Given the description of an element on the screen output the (x, y) to click on. 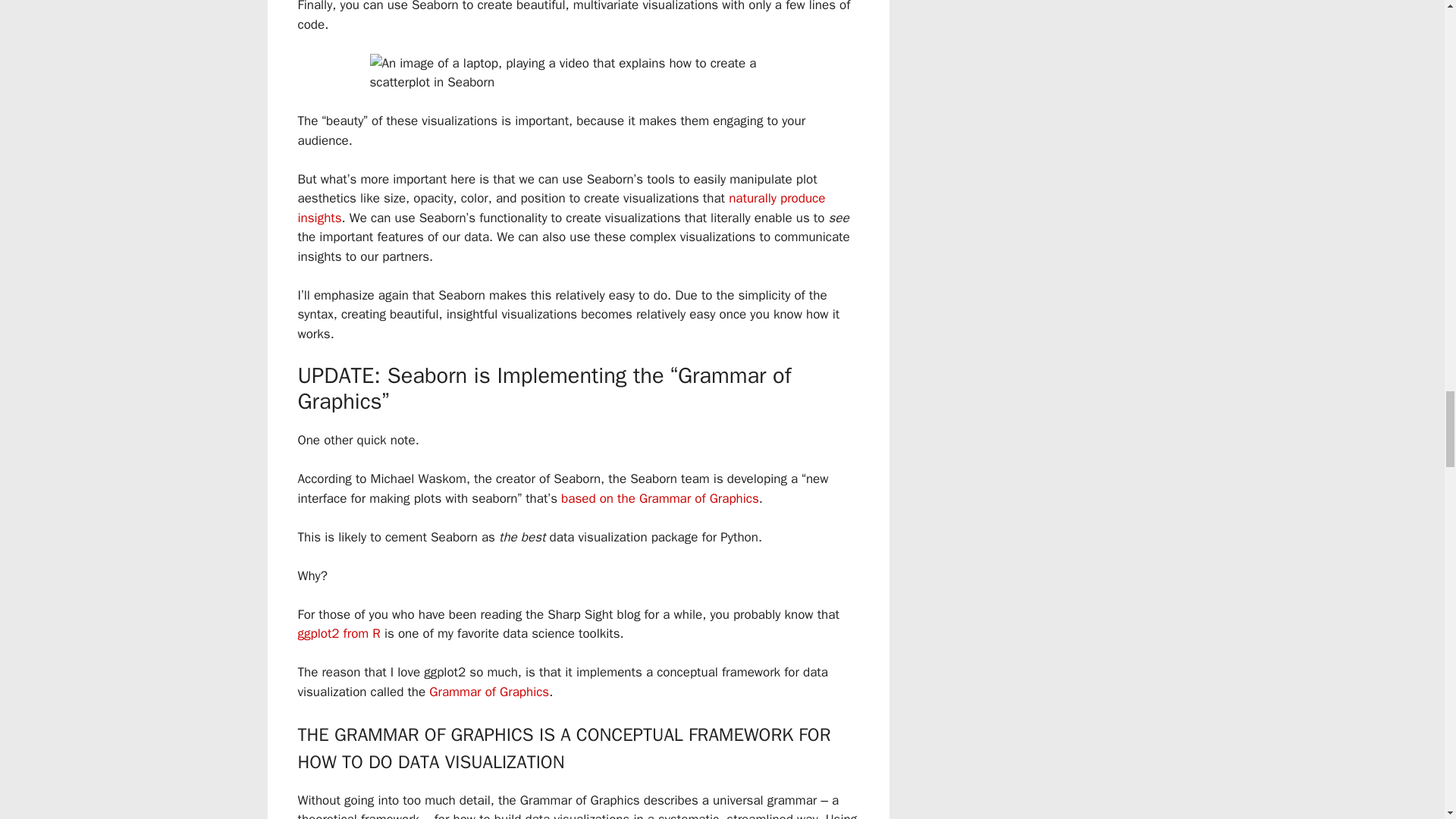
based on the Grammar of Graphics (659, 498)
naturally produce insights (561, 208)
ggplot2 from R (338, 633)
Grammar of Graphics (488, 691)
